Given the description of an element on the screen output the (x, y) to click on. 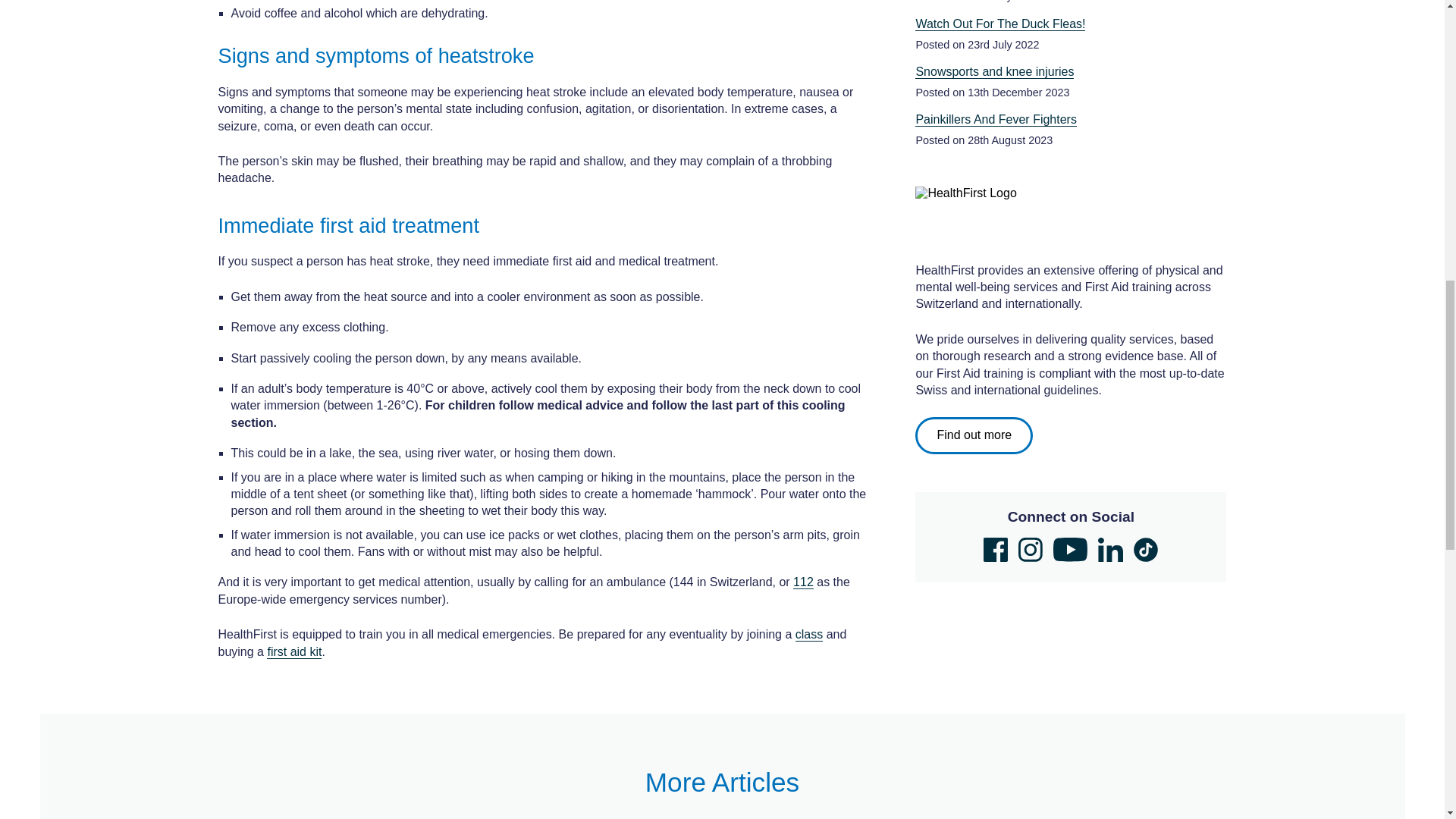
first aid kit (293, 652)
class (808, 634)
112 (803, 581)
